Given the description of an element on the screen output the (x, y) to click on. 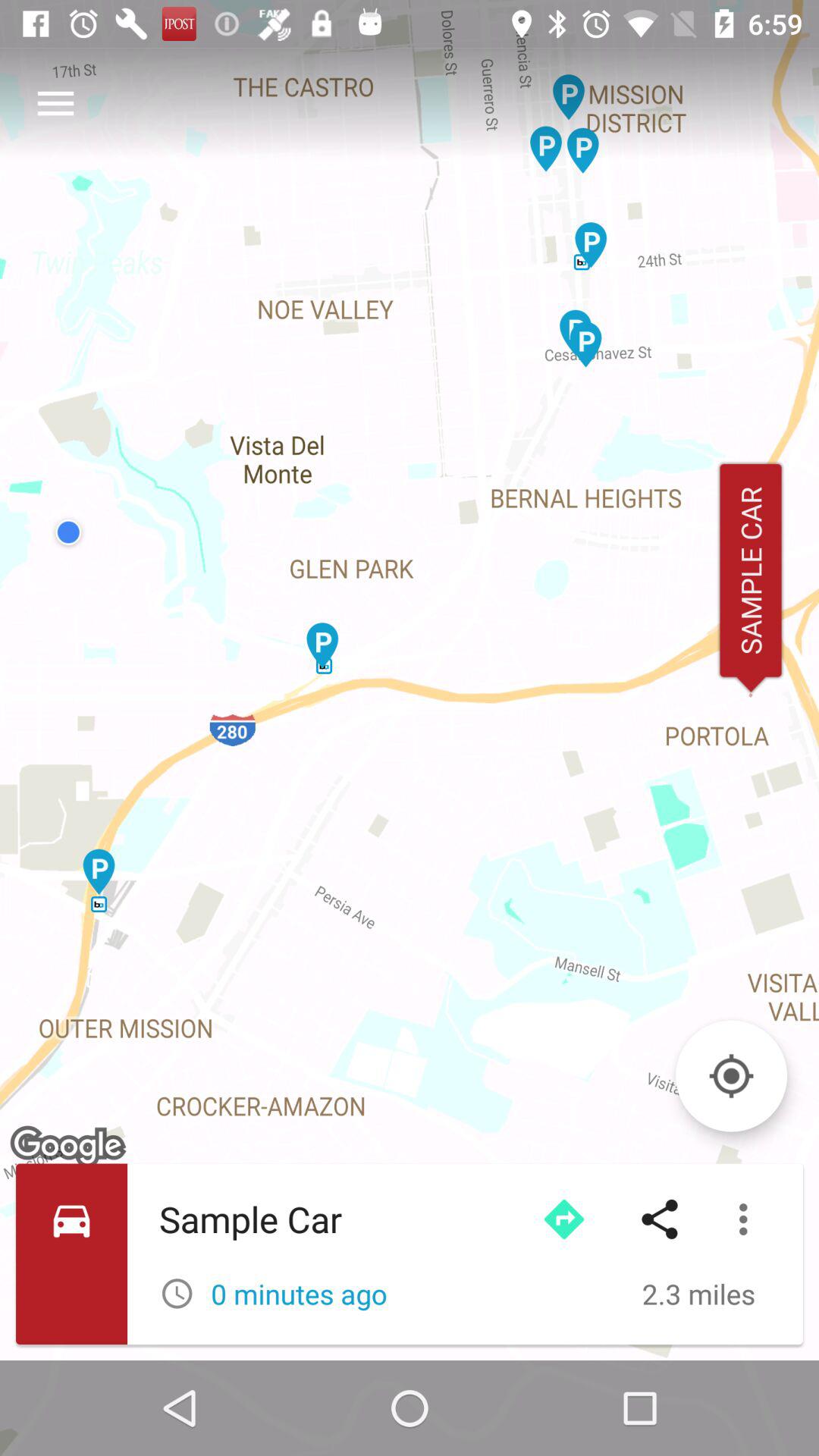
center on location (731, 1075)
